Given the description of an element on the screen output the (x, y) to click on. 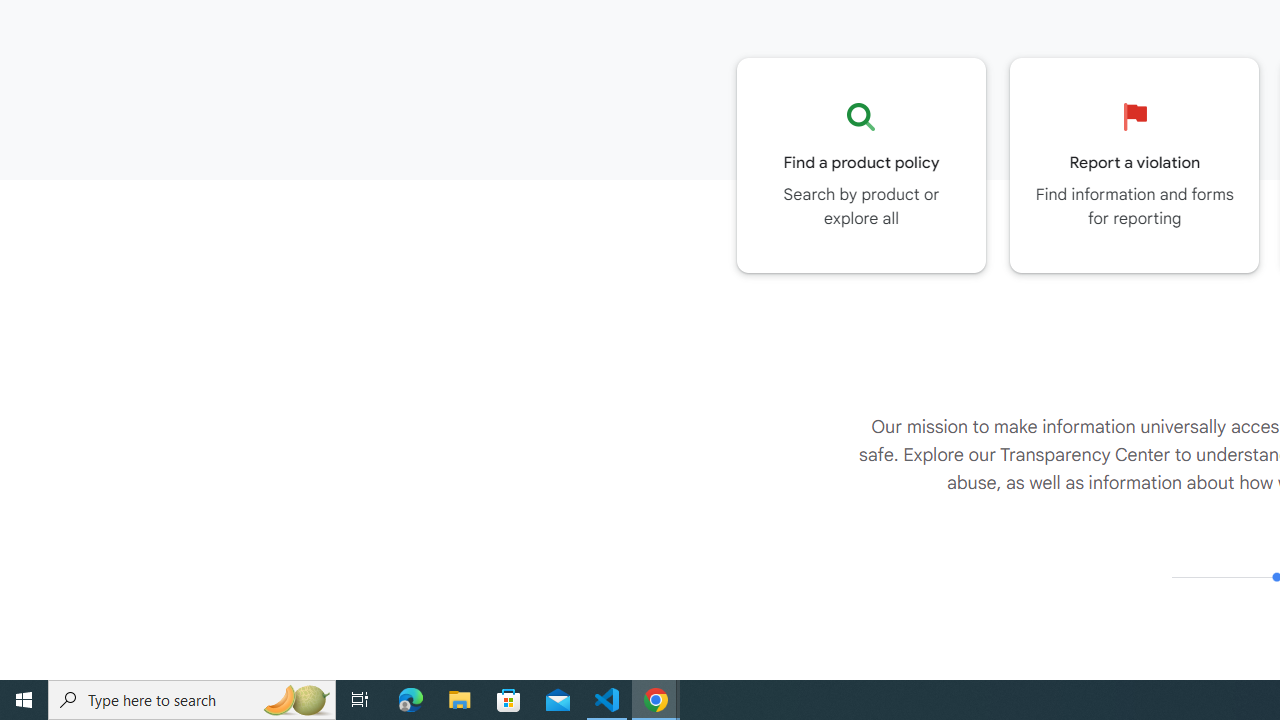
Go to the Product policy page (861, 165)
Go to the Reporting and appeals page (1134, 165)
